Given the description of an element on the screen output the (x, y) to click on. 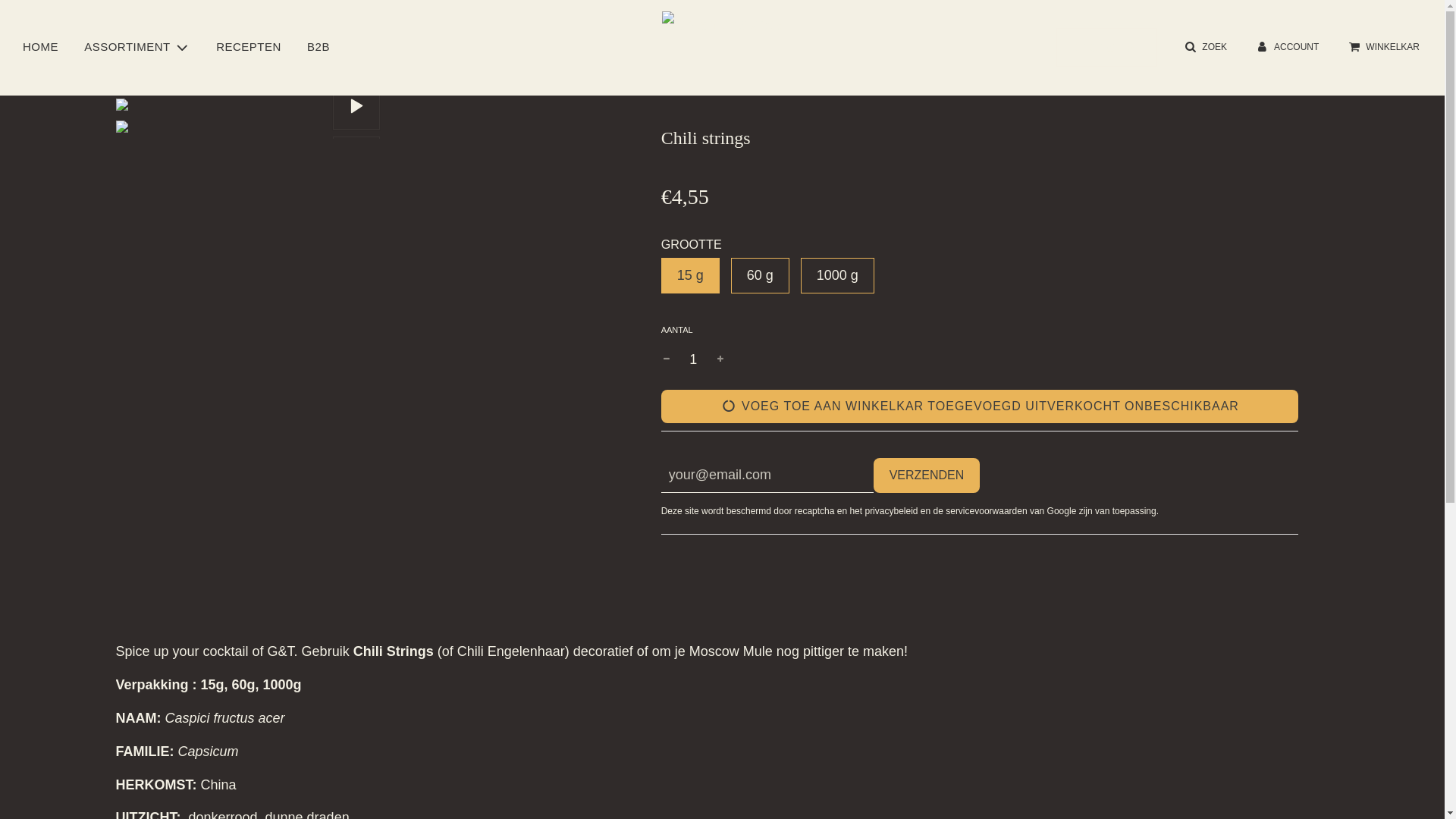
ASSORTIMENT Element type: text (136, 46)
privacybeleid Element type: text (890, 510)
HOME Element type: text (40, 46)
B2B Element type: text (318, 46)
servicevoorwaarden Element type: text (985, 510)
Verzenden Element type: text (926, 475)
ACCOUNT Element type: text (1286, 46)
ZOEK Element type: text (1204, 46)
RECEPTEN Element type: text (248, 46)
WINKELKAR Element type: text (1382, 46)
